Given the description of an element on the screen output the (x, y) to click on. 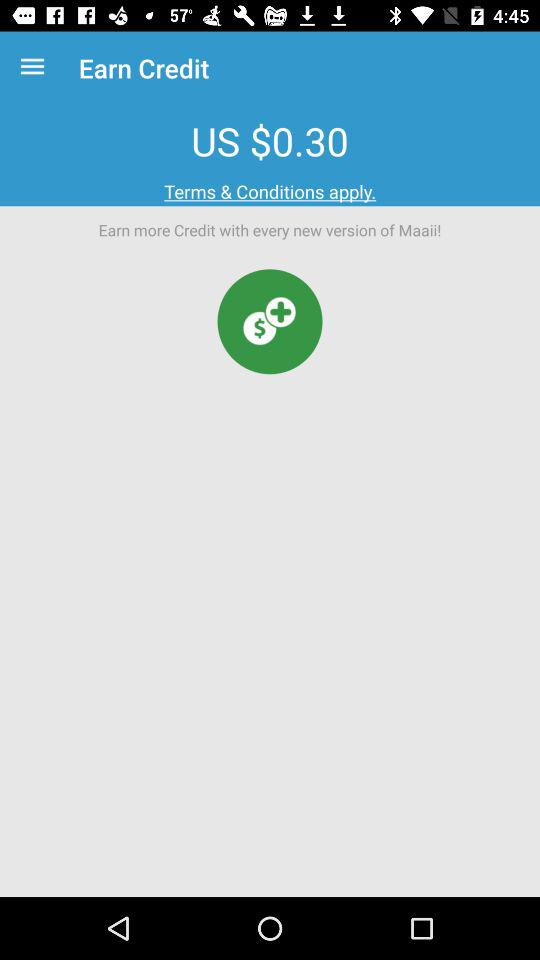
turn off app below the terms & conditions apply. item (269, 321)
